Given the description of an element on the screen output the (x, y) to click on. 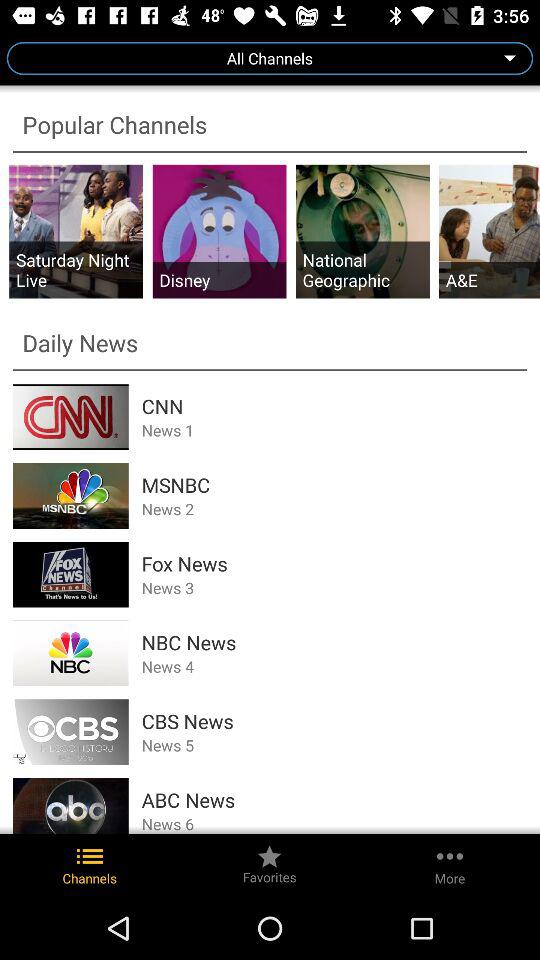
flip until the news 6 icon (333, 823)
